Given the description of an element on the screen output the (x, y) to click on. 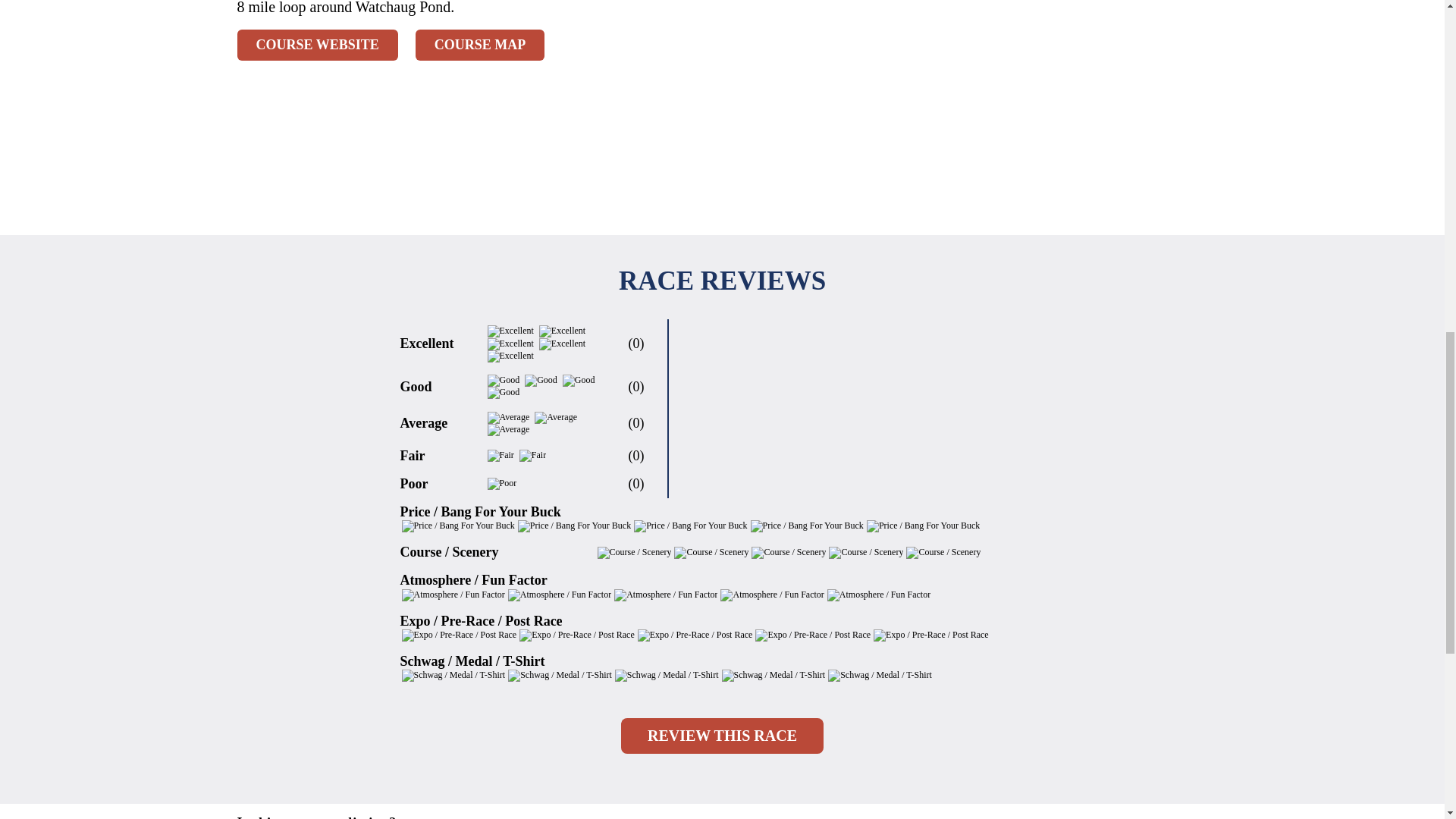
REVIEW THIS RACE (722, 735)
COURSE MAP (479, 44)
COURSE WEBSITE (316, 44)
